Given the description of an element on the screen output the (x, y) to click on. 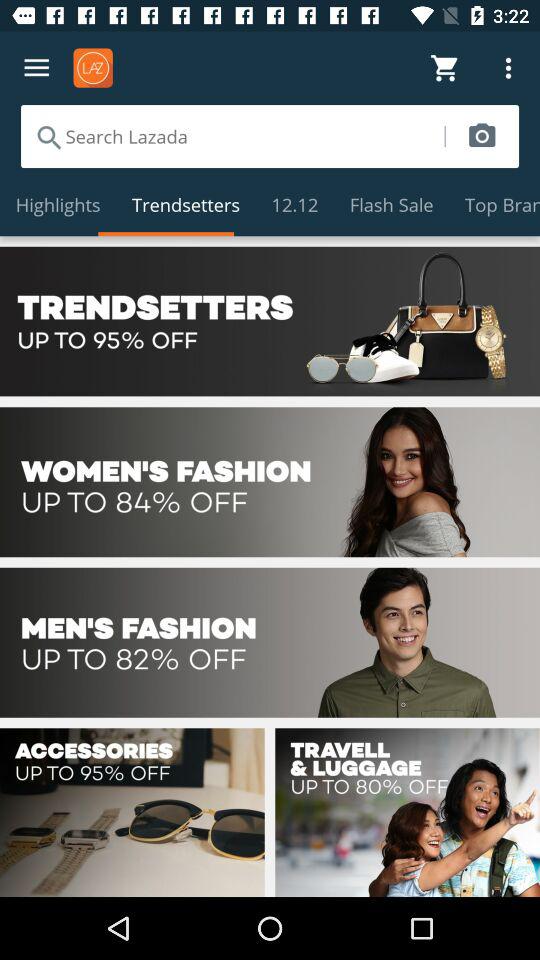
click option (270, 642)
